Given the description of an element on the screen output the (x, y) to click on. 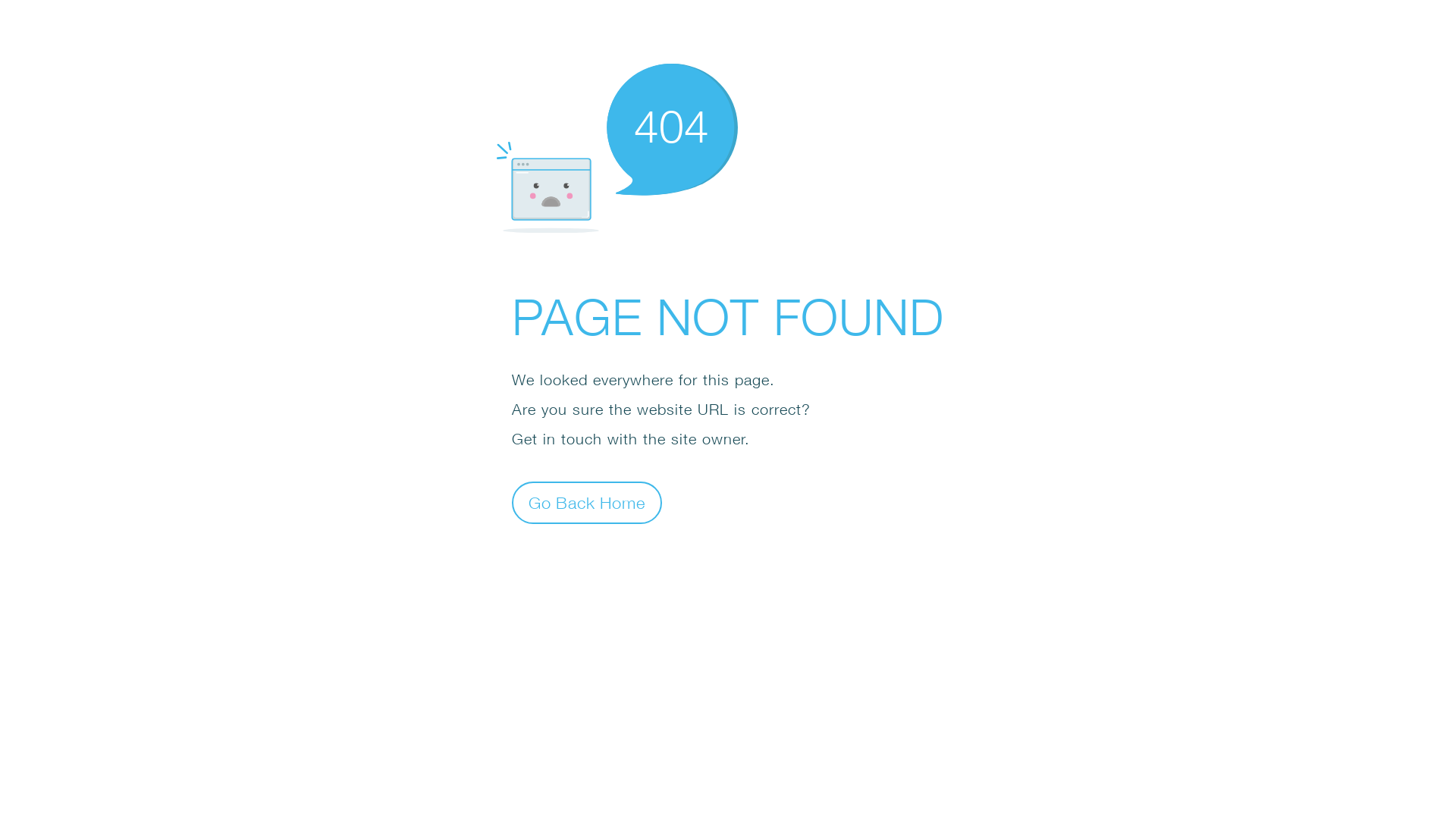
Go Back Home Element type: text (586, 502)
